Given the description of an element on the screen output the (x, y) to click on. 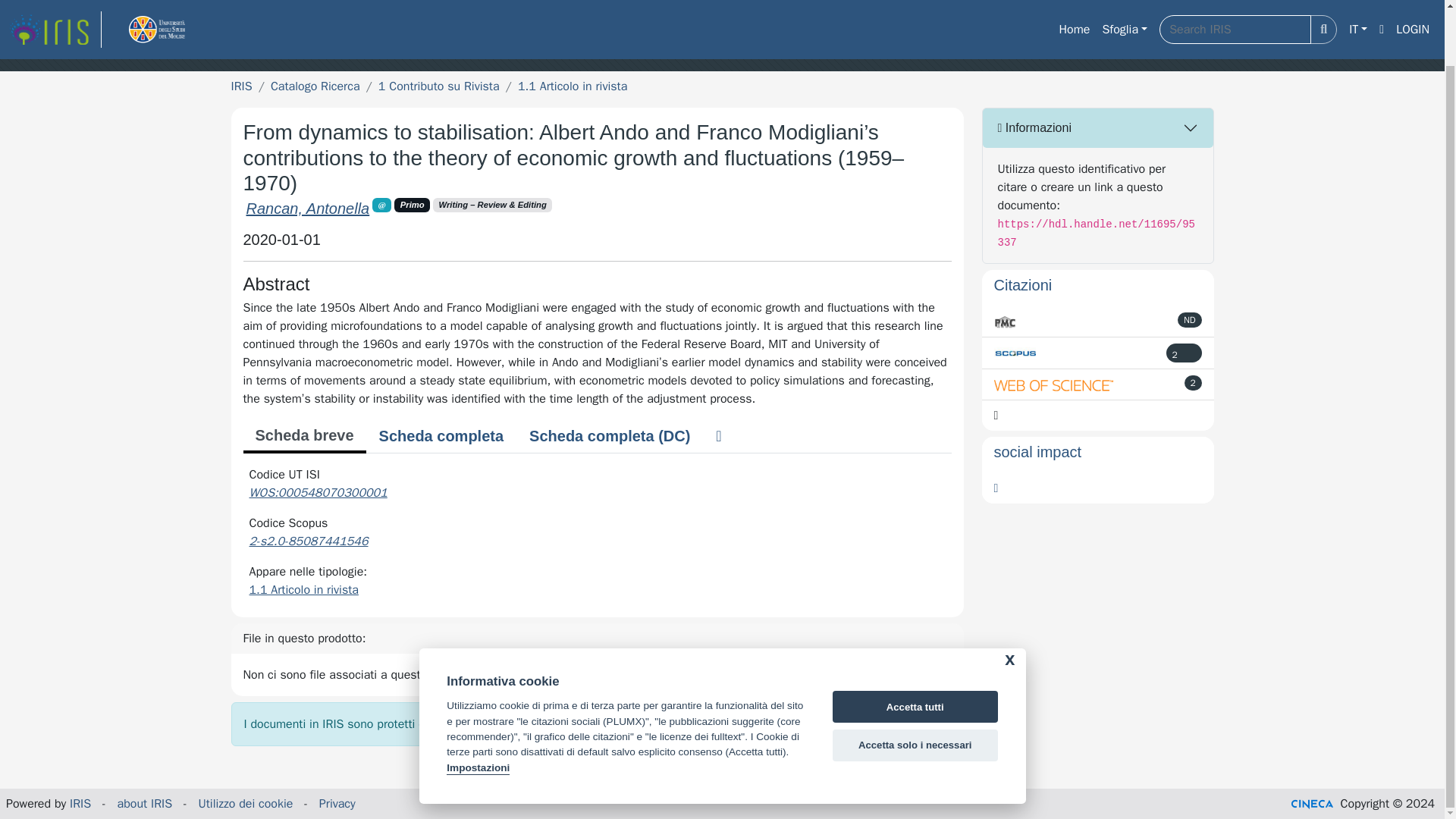
1 Contributo su Rivista (438, 86)
2-s2.0-85087441546 (308, 540)
Scheda breve (304, 436)
WOS:000548070300001 (317, 492)
Catalogo Ricerca (314, 86)
 Informazioni (1097, 128)
1.1 Articolo in rivista (572, 86)
Corresponding author (381, 204)
Scheda completa (441, 436)
Rancan, Antonella (307, 208)
IRIS (240, 86)
1.1 Articolo in rivista (303, 589)
